Given the description of an element on the screen output the (x, y) to click on. 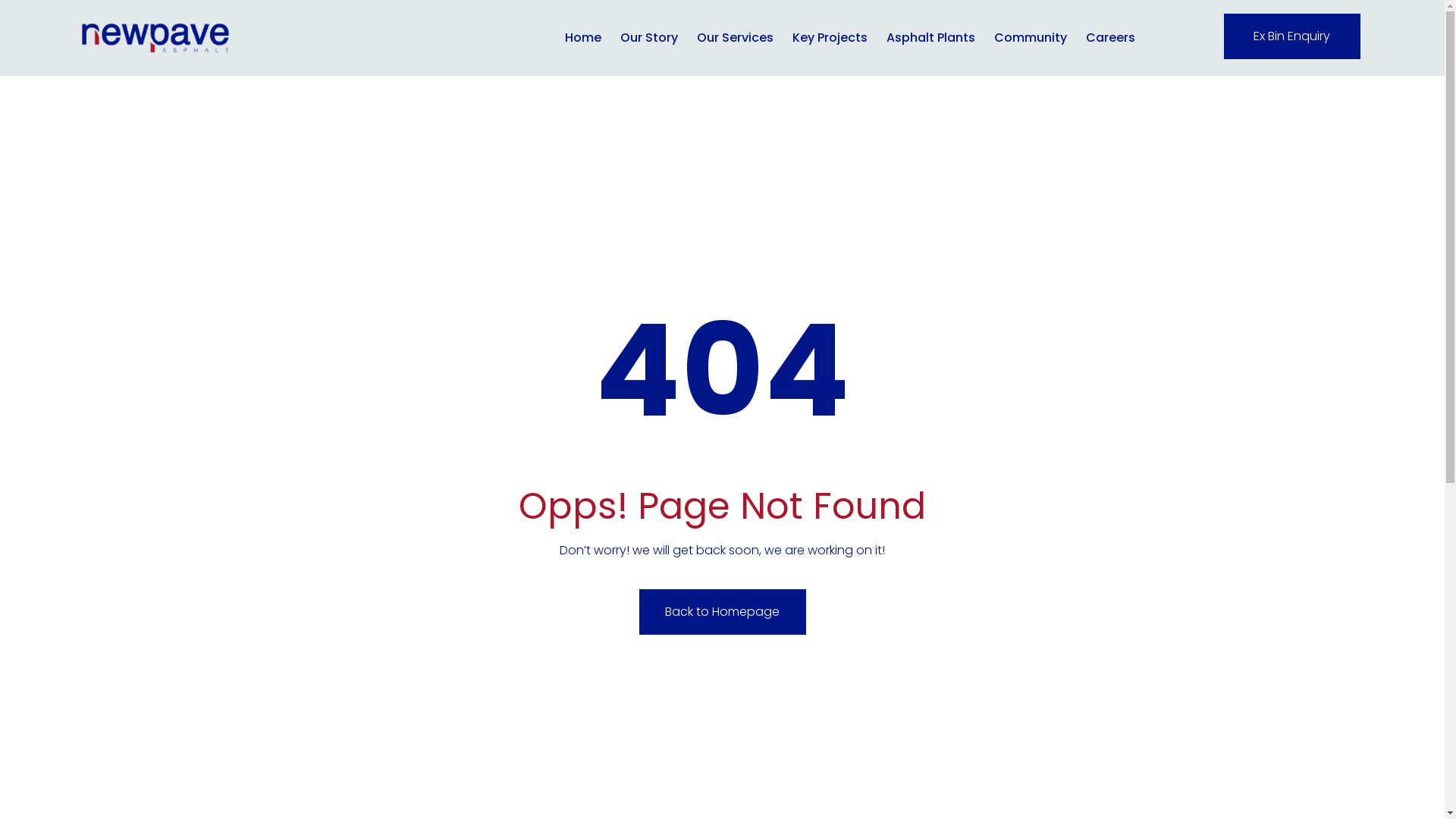
Asphalt Plants Element type: text (930, 37)
Home Element type: text (582, 37)
Back to Homepage Element type: text (721, 611)
Key Projects Element type: text (829, 37)
Our Story Element type: text (648, 37)
Our Services Element type: text (734, 37)
Careers Element type: text (1110, 37)
Ex Bin Enquiry Element type: text (1291, 36)
Community Element type: text (1030, 37)
